Given the description of an element on the screen output the (x, y) to click on. 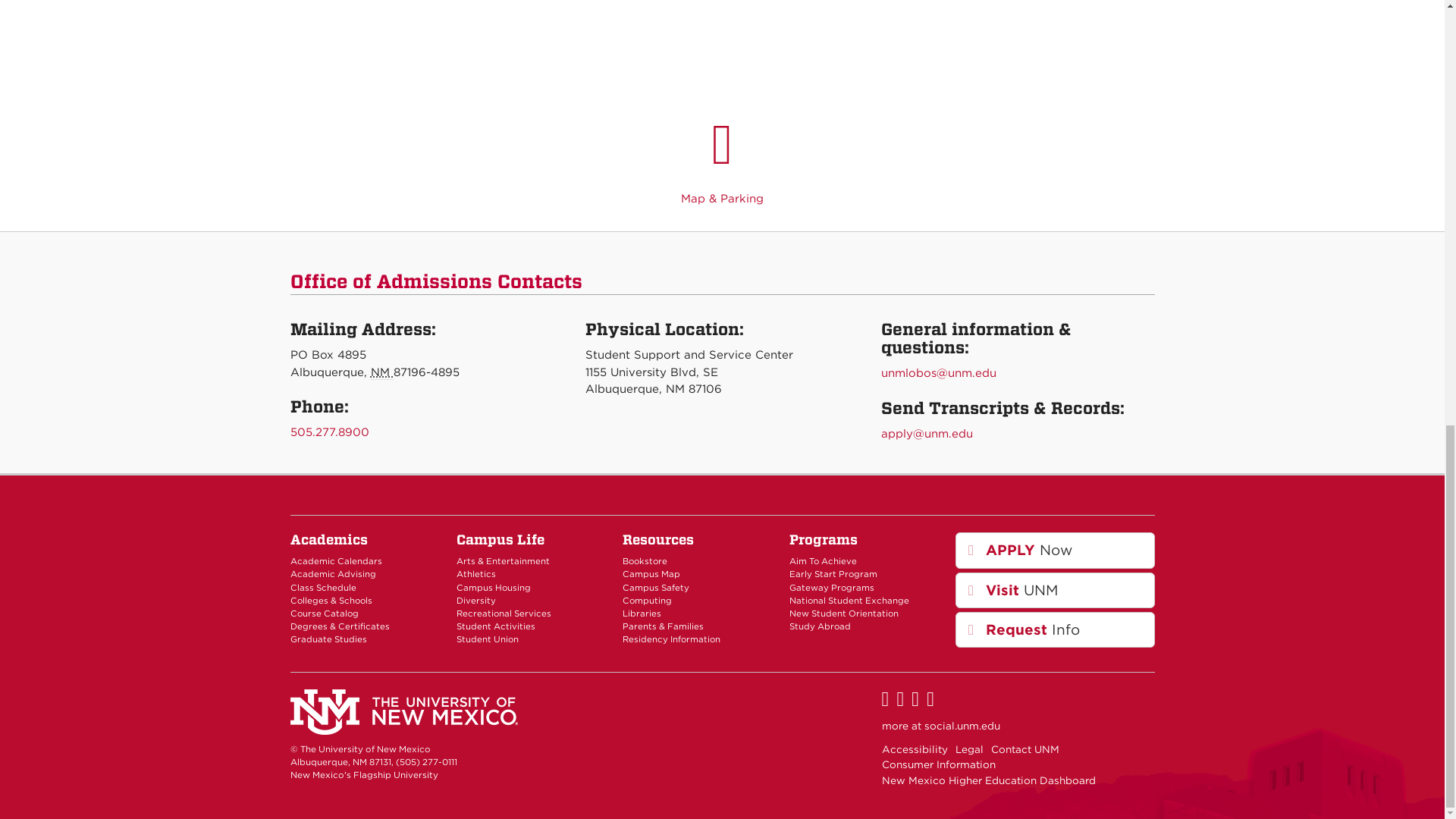
Graduate Studies (327, 638)
Bookstore (644, 561)
Computing (647, 600)
Residency Information (671, 638)
Course Catalog (323, 613)
Campus Map (651, 573)
Academic Advising (332, 573)
Athletics (476, 573)
Campus Housing (494, 587)
Recreational Services (504, 613)
